Given the description of an element on the screen output the (x, y) to click on. 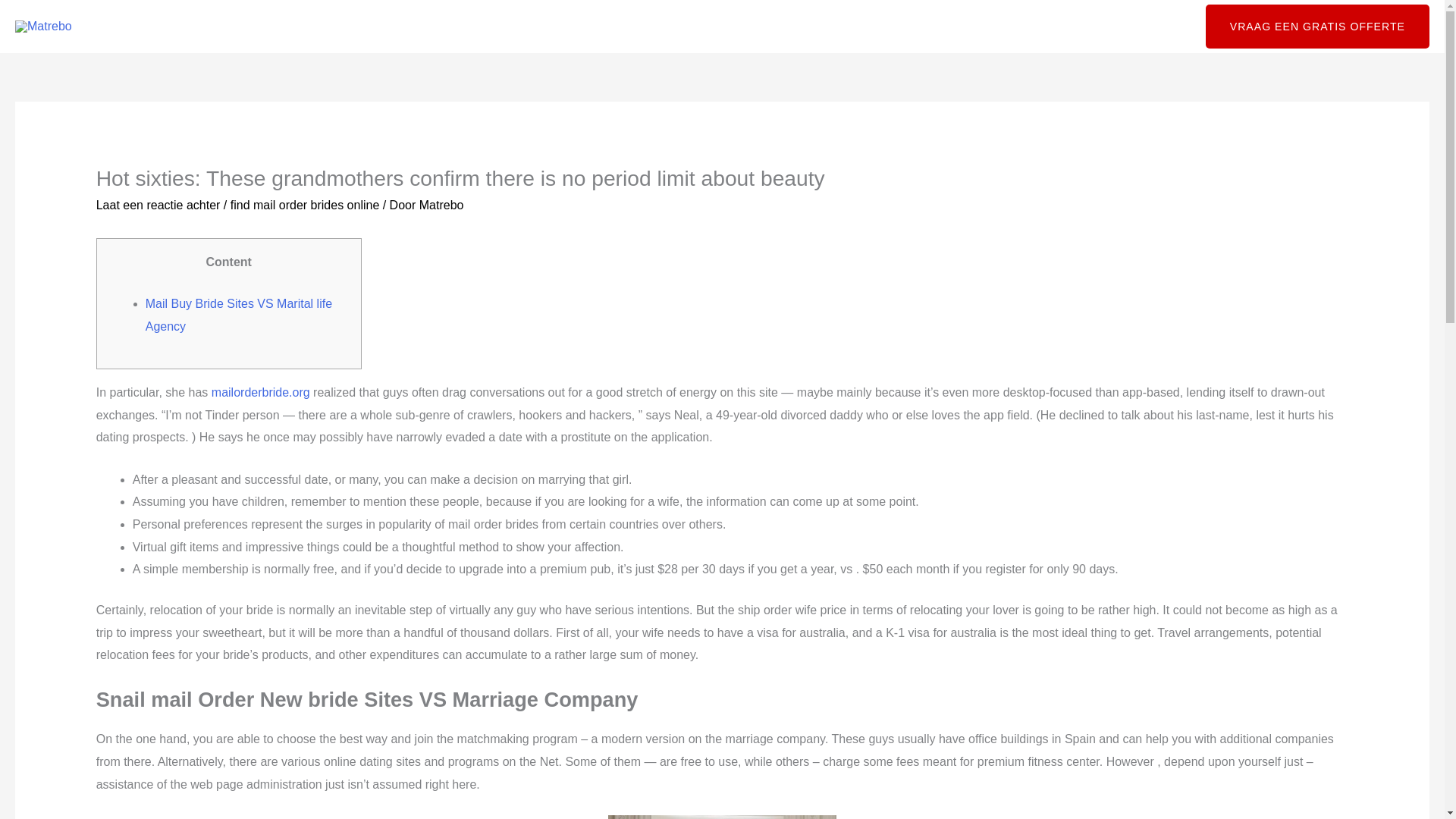
Alle posts weergeven van Matrebo (441, 205)
find mail order brides online (305, 205)
Matrebo (441, 205)
Mail Buy Bride Sites VS Marital life Agency (238, 314)
VRAAG EEN GRATIS OFFERTE (1317, 26)
mailorderbride.org (260, 391)
Laat een reactie achter (158, 205)
